Given the description of an element on the screen output the (x, y) to click on. 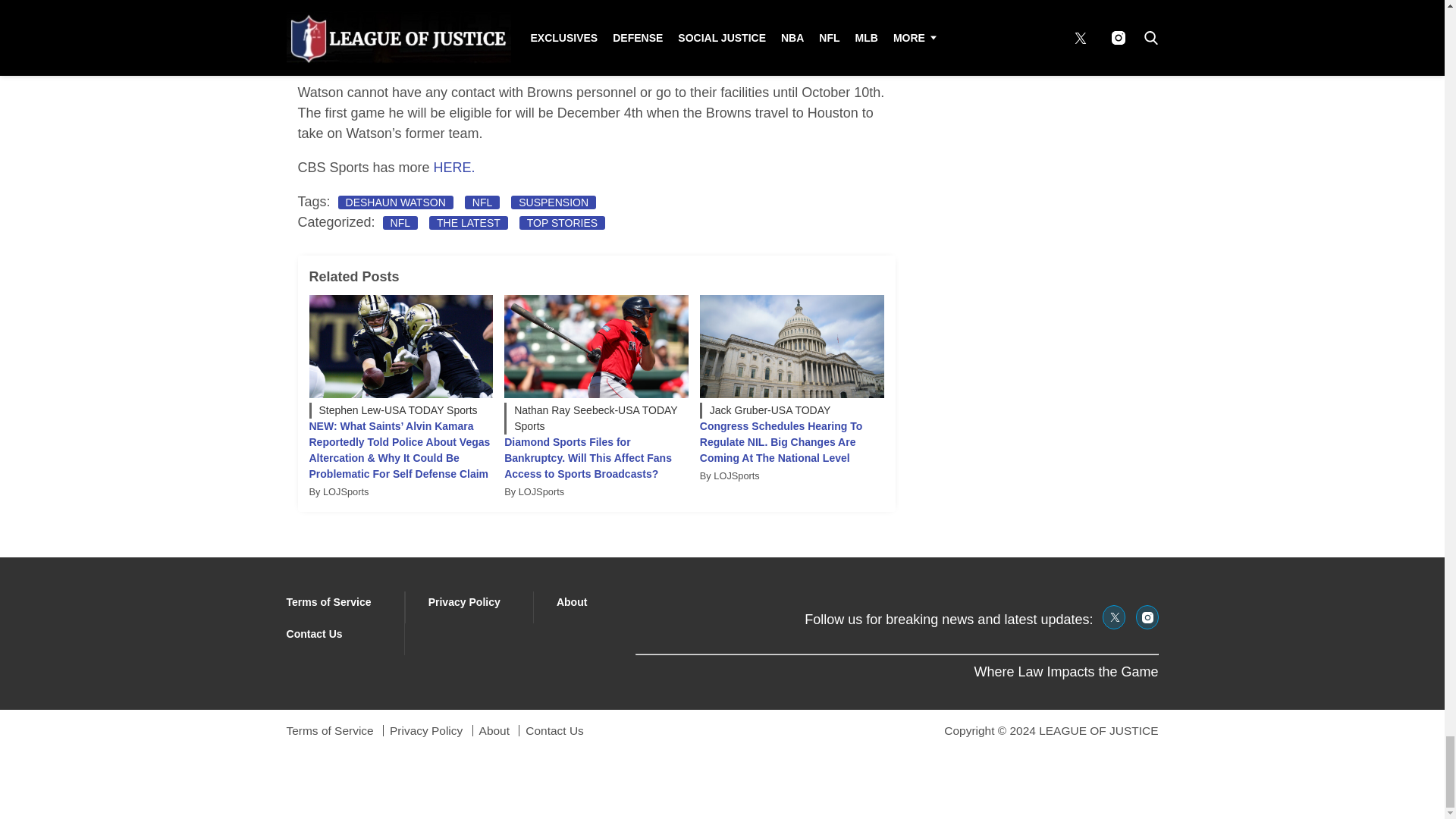
THE LATEST (468, 223)
Nathan Ray Seebeck-USA TODAY Sports (595, 418)
Follow us on Instagram (1146, 617)
HERE. (454, 167)
Terms of Service (328, 602)
3rd party ad content (595, 40)
TOP STORIES (562, 223)
NFL (399, 223)
NFL (481, 202)
Jack Gruber-USA TODAY (791, 410)
